Given the description of an element on the screen output the (x, y) to click on. 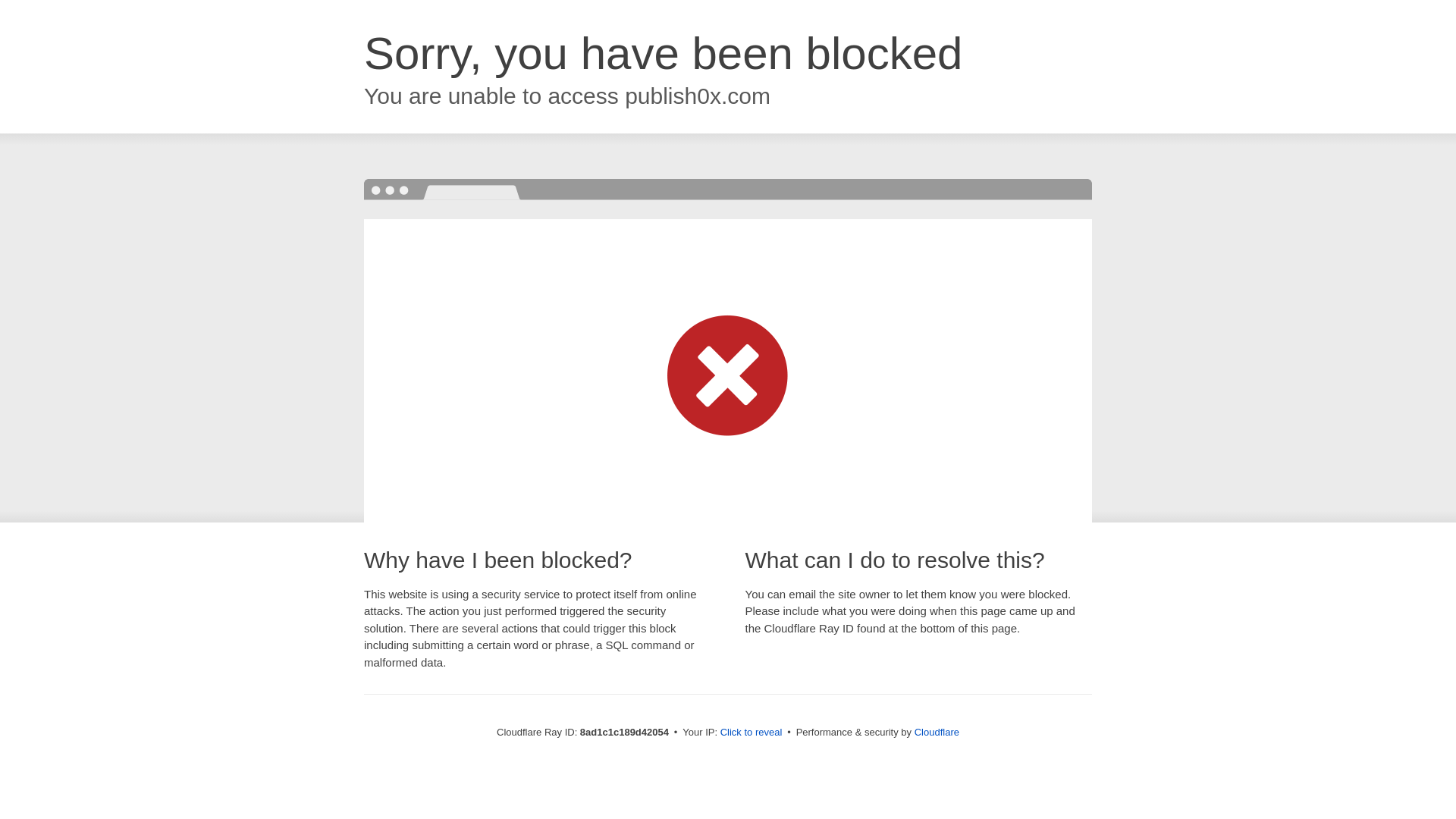
Click to reveal (751, 732)
Cloudflare (936, 731)
